Given the description of an element on the screen output the (x, y) to click on. 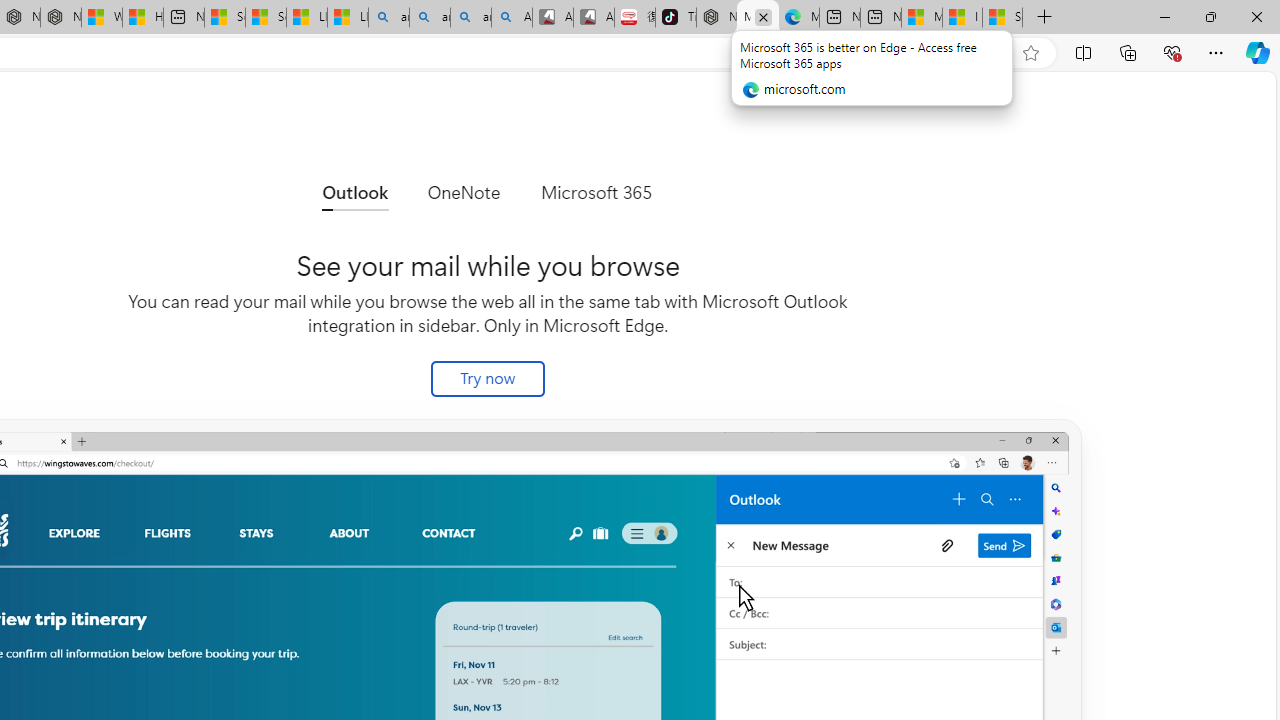
Huge shark washes ashore at New York City beach | Watch (142, 17)
